Given the description of an element on the screen output the (x, y) to click on. 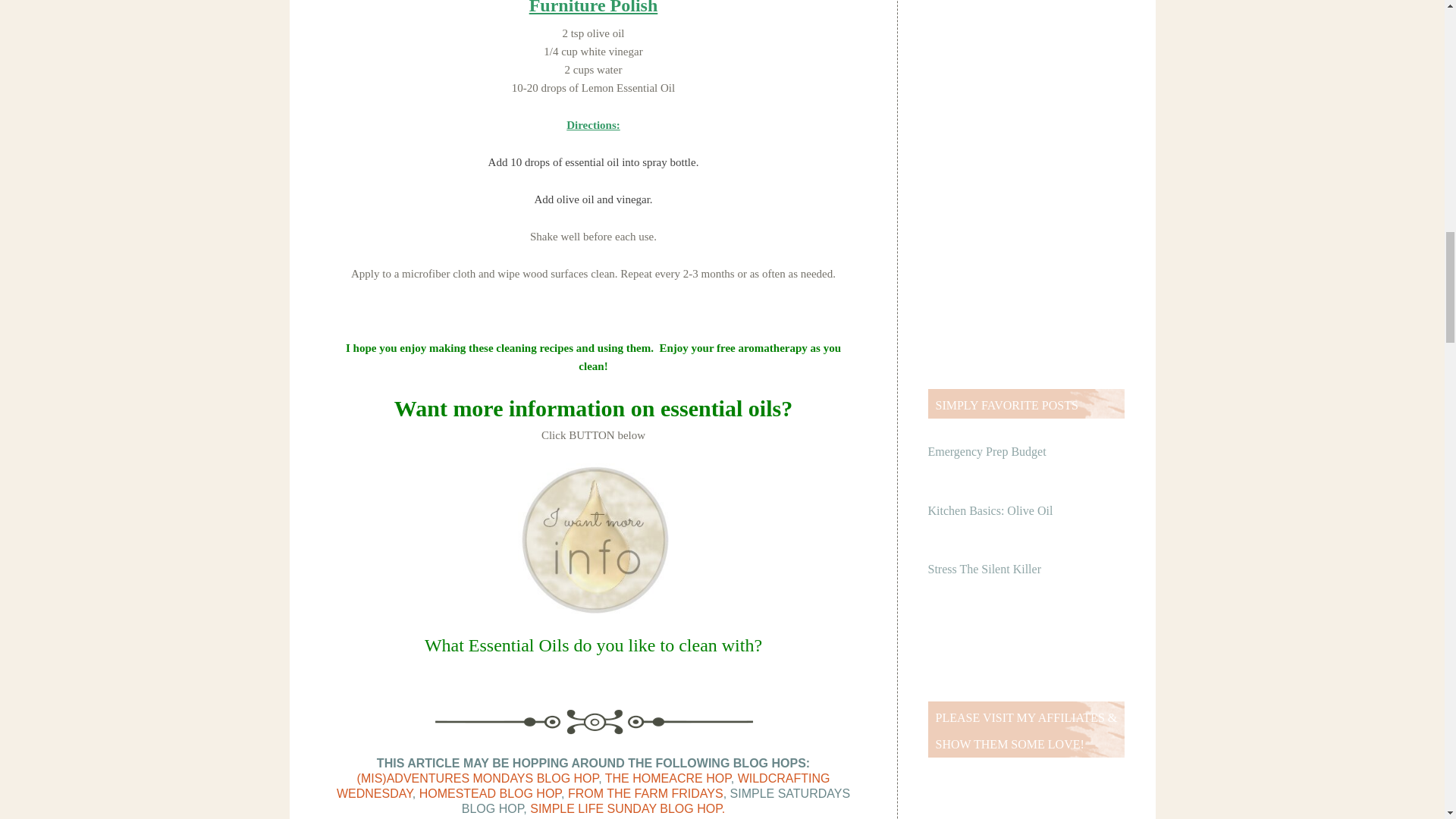
THE HOMEACRE HOP (667, 778)
Simple Life Sunday (627, 808)
Wildcrafting Wednesday (582, 786)
Emergency Prep Budget (987, 451)
Simply Essential Oils (592, 539)
The HomeAcre Hop (667, 778)
FROM THE FARM FRIDAYS (645, 793)
WILDCRAFTING WEDNESDAY (582, 786)
HOMESTEAD BLOG HOP (489, 793)
SIMPLE LIFE SUNDAY BLOG HOP. (627, 808)
